Given the description of an element on the screen output the (x, y) to click on. 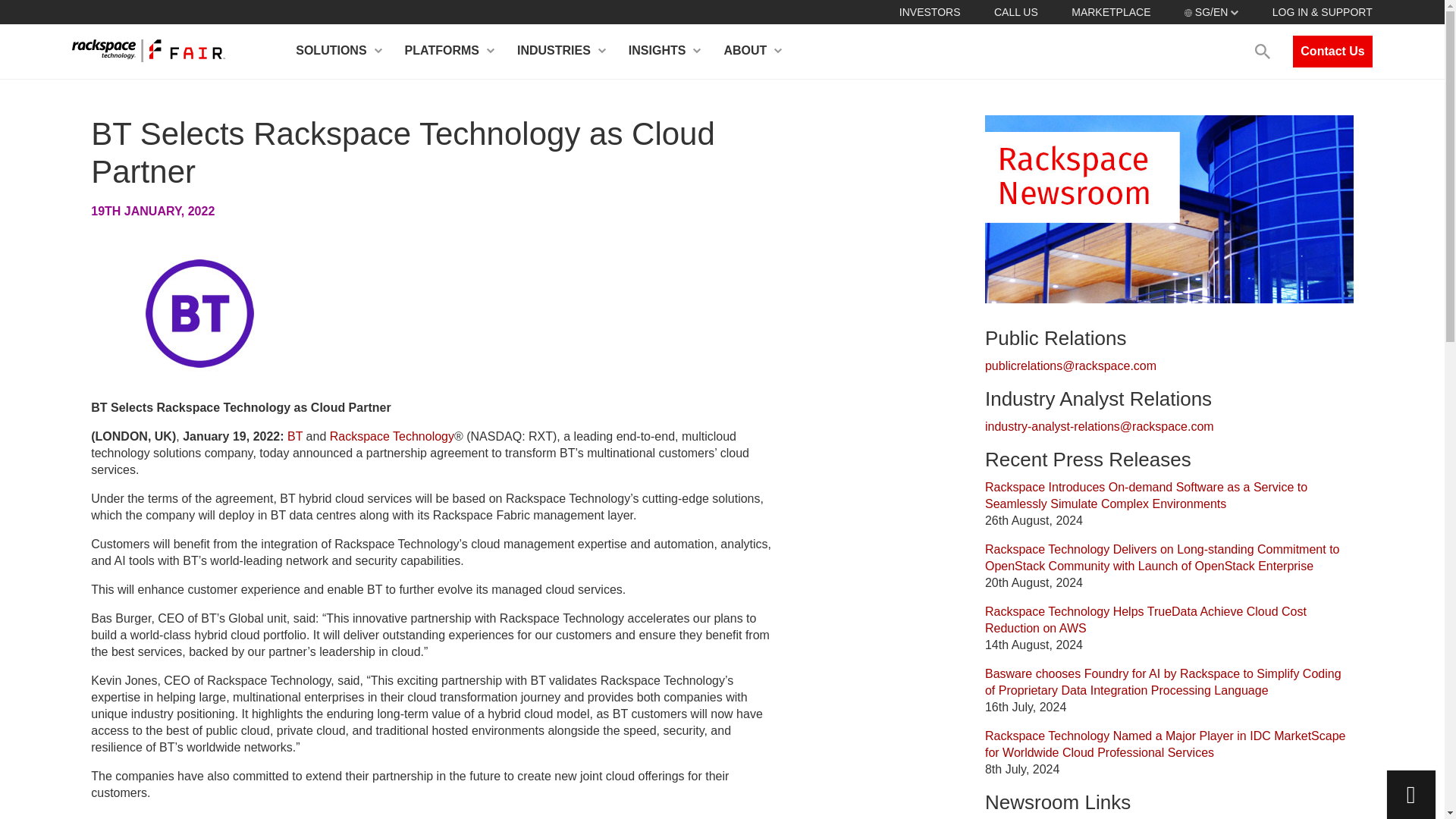
SOLUTIONS (338, 51)
CALL US (1016, 11)
INVESTORS (929, 11)
MARKETPLACE (1110, 11)
